Given the description of an element on the screen output the (x, y) to click on. 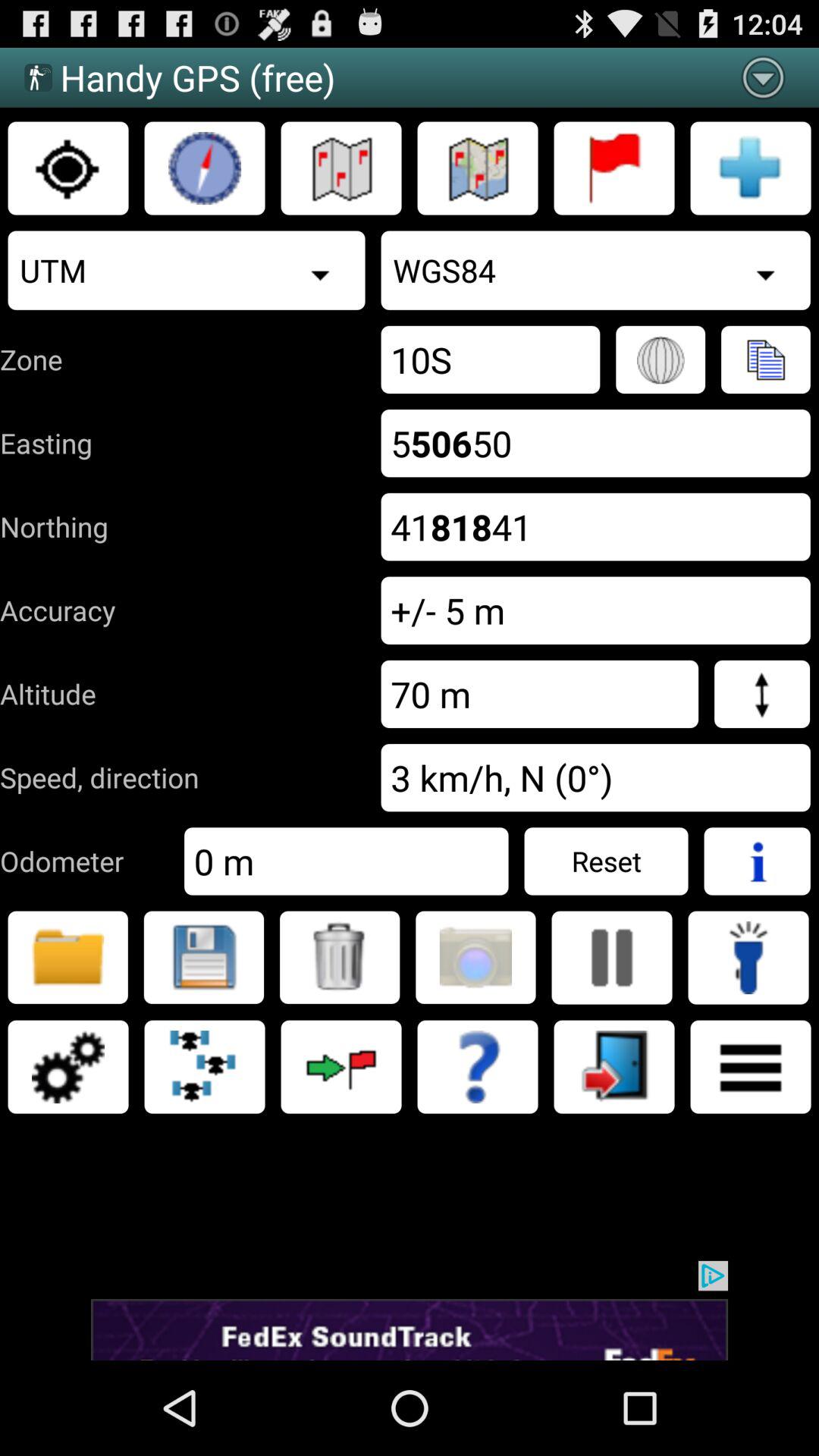
files (67, 957)
